Given the description of an element on the screen output the (x, y) to click on. 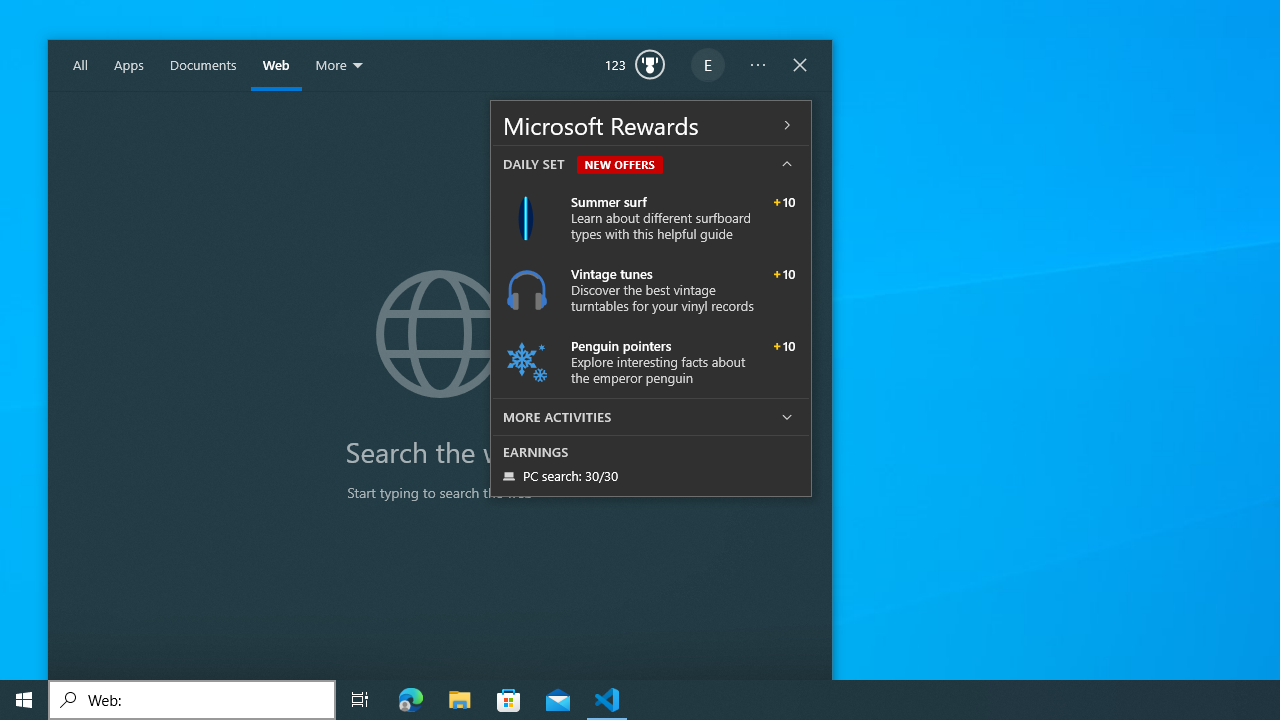
Microsoft Rewards balance: 123 (635, 65)
MORE ACTIVITIES (650, 416)
Apps (129, 65)
Search box (191, 699)
Web (276, 65)
Microsoft Rewards (650, 124)
DAILY SET NEW OFFERS (650, 164)
All (80, 65)
EugeneLedger601@outlook.com (707, 65)
Options (758, 65)
More (340, 65)
